Given the description of an element on the screen output the (x, y) to click on. 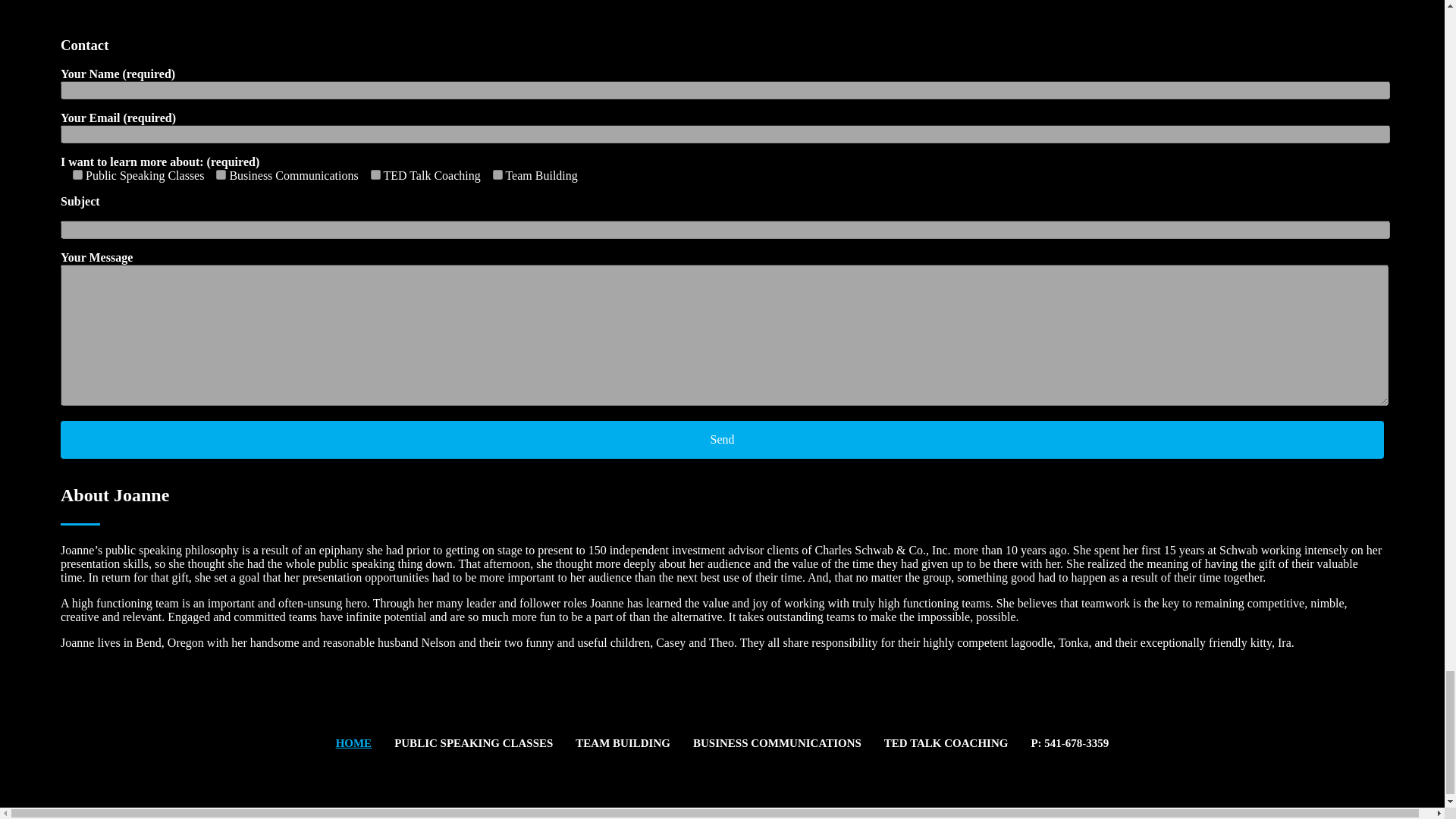
HOME (354, 743)
Send (722, 439)
Send (722, 439)
Public Speaking Classes (77, 174)
P: 541-678-3359 (1069, 743)
PUBLIC SPEAKING CLASSES (473, 743)
Team Building (497, 174)
TED Talk Coaching (375, 174)
BUSINESS COMMUNICATIONS (776, 743)
TEAM BUILDING (622, 743)
TED TALK COACHING (946, 743)
Business Communications (220, 174)
